Given the description of an element on the screen output the (x, y) to click on. 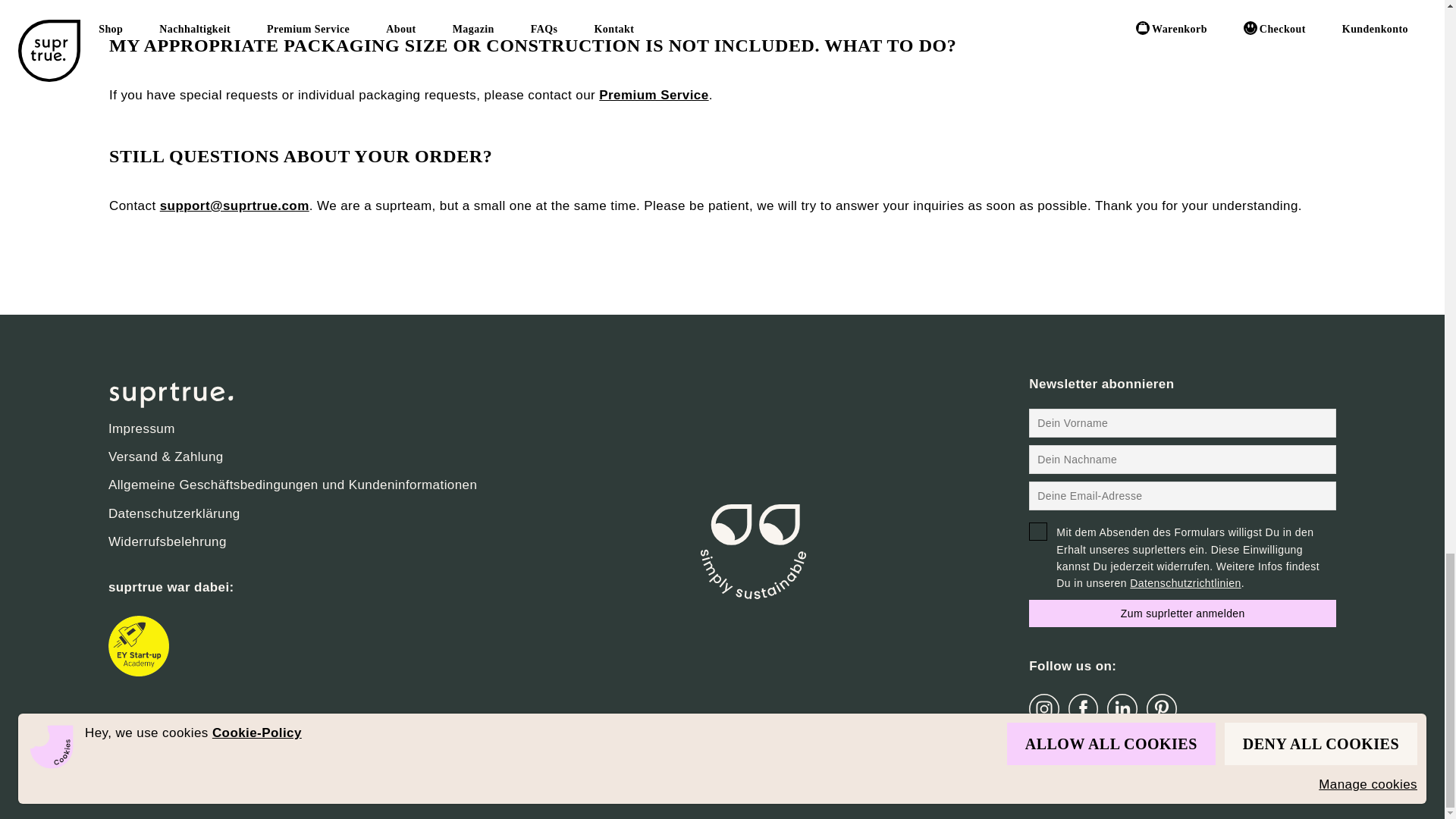
Widerrufsbelehrung (292, 541)
Datenschutzrichtlinien (1184, 582)
Premium Service (652, 94)
Zum suprletter anmelden (1182, 613)
Zum suprletter anmelden (1182, 613)
Impressum (292, 428)
